Given the description of an element on the screen output the (x, y) to click on. 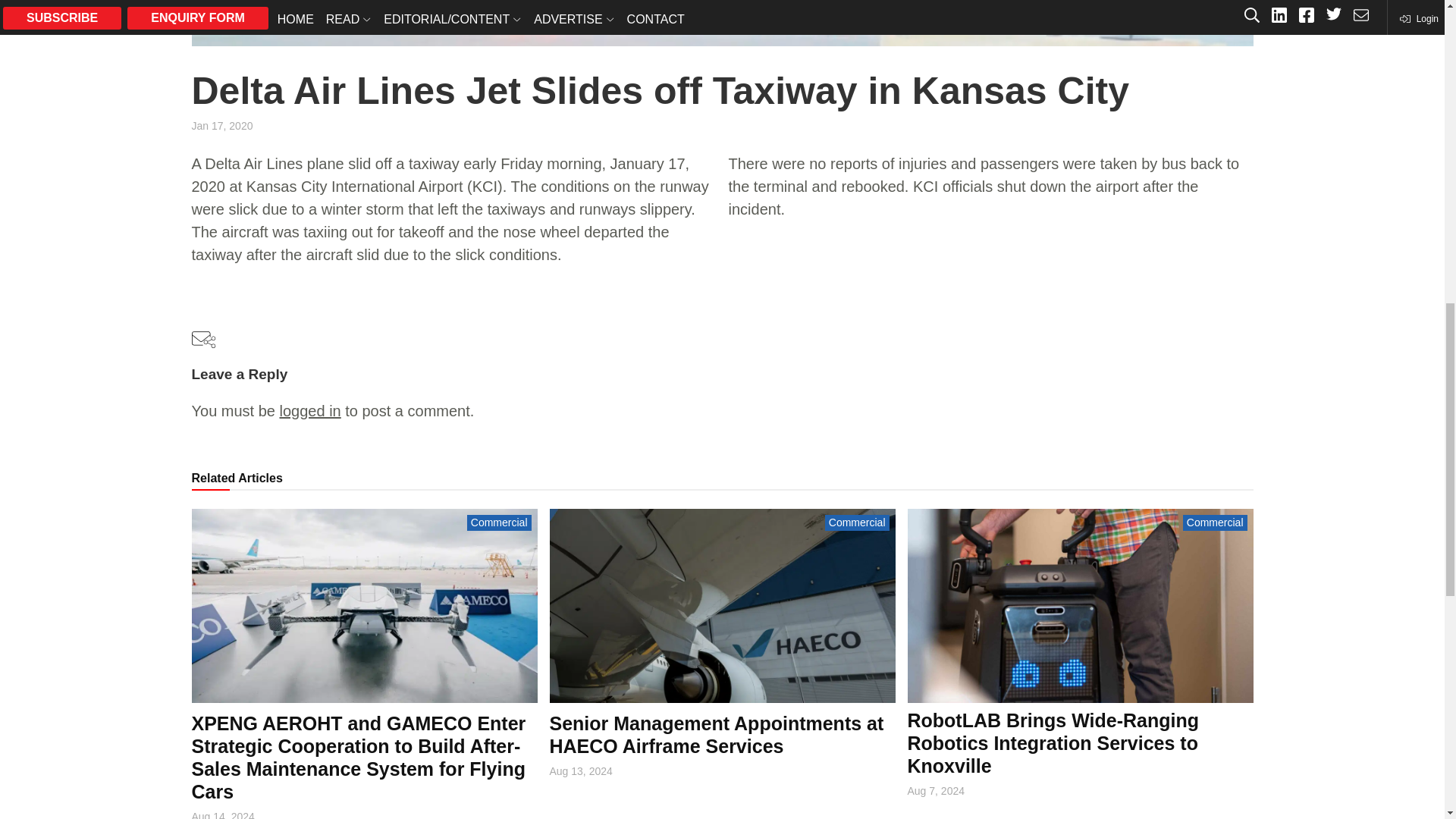
Commercial (857, 522)
logged in (309, 410)
Senior Management Appointments at HAECO Airframe Services (715, 734)
Share by Email (202, 340)
Commercial (499, 522)
